Given the description of an element on the screen output the (x, y) to click on. 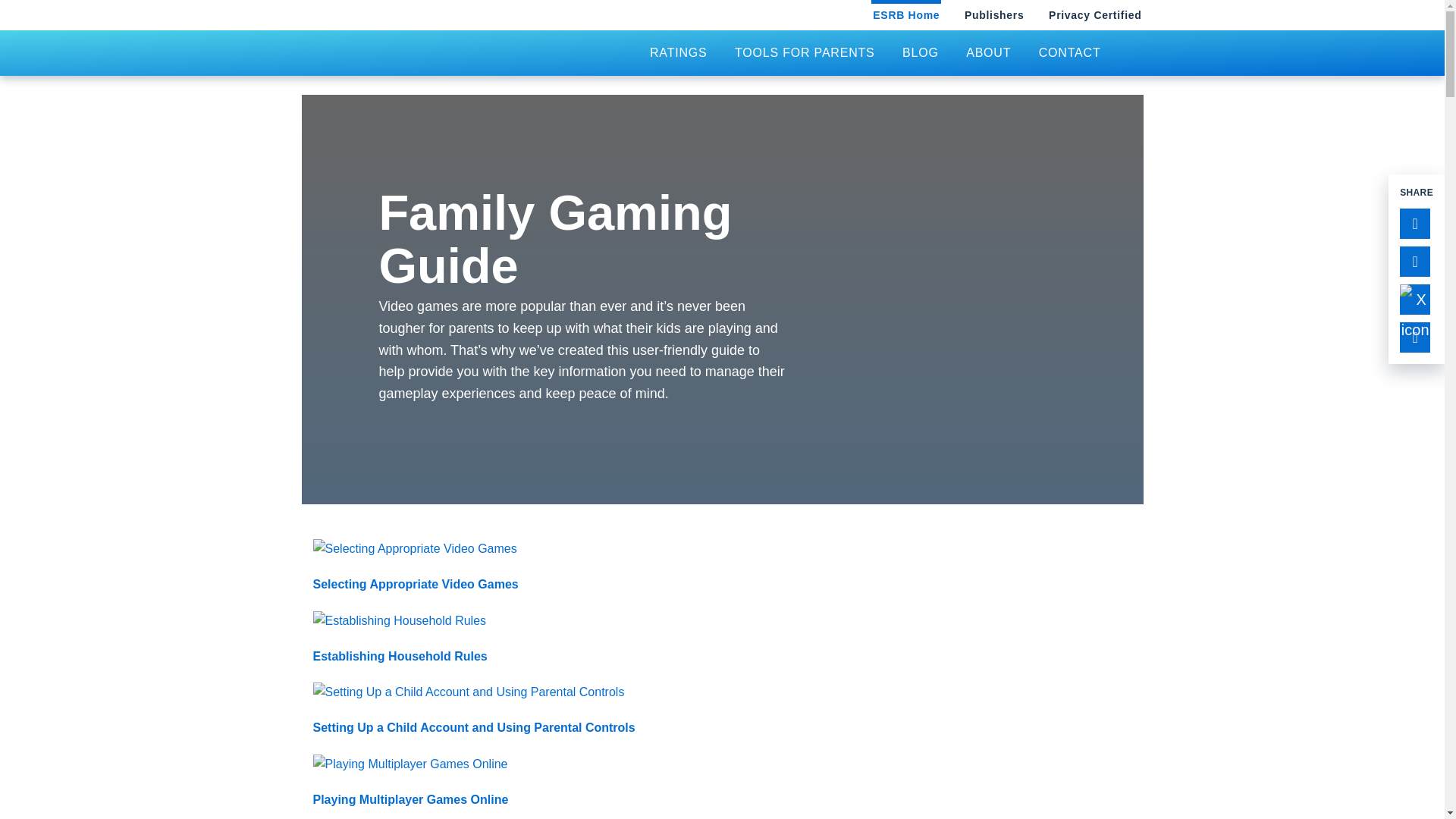
CONTACT (1069, 53)
BLOG (919, 53)
ABOUT (988, 53)
Playing Multiplayer Games Online (722, 782)
ESRB Home (905, 15)
Privacy Certified (1094, 15)
TOOLS FOR PARENTS (804, 53)
RATINGS (678, 53)
Publishers (994, 15)
Homepage (434, 50)
Establishing Household Rules (722, 639)
Setting Up a Child Account and Using Parental Controls (722, 710)
Selecting Appropriate Video Games (722, 567)
